Given the description of an element on the screen output the (x, y) to click on. 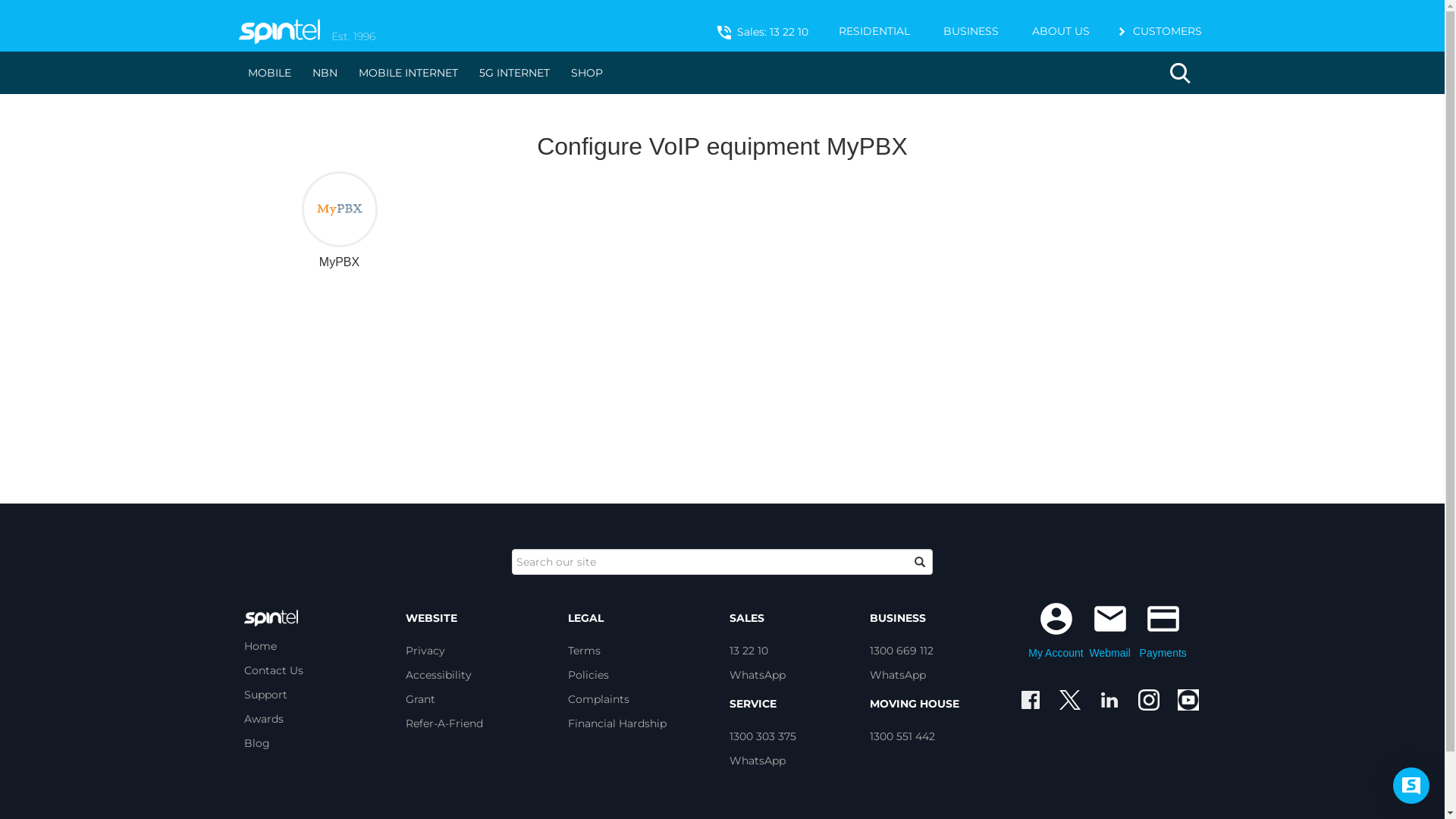
Grant Element type: text (420, 699)
Support Element type: text (265, 694)
WhatsApp Element type: text (757, 674)
BUSINESS Element type: text (970, 30)
WhatsApp Element type: text (757, 760)
SHOP Element type: text (585, 72)
Blog Element type: text (256, 742)
Policies Element type: text (587, 674)
MOBILE INTERNET Element type: text (407, 72)
Contact Us Element type: text (273, 670)
mail
Webmail Element type: text (1109, 630)
Financial Hardship Element type: text (616, 723)
1300 551 442 Element type: text (901, 736)
Awards Element type: text (263, 718)
1300 669 112 Element type: text (900, 650)
13 22 10 Element type: text (748, 650)
ABOUT US Element type: text (1060, 30)
Refer-A-Friend Element type: text (444, 723)
Home Element type: text (260, 645)
Est. 1996 Element type: text (363, 25)
account_circle
My Account Element type: text (1055, 630)
MOBILE Element type: text (268, 72)
chevron_rightCUSTOMERS Element type: text (1157, 32)
MyPBX Element type: text (339, 220)
Terms Element type: text (583, 650)
Complaints Element type: text (597, 699)
credit_card
Payments Element type: text (1162, 630)
Accessibility Element type: text (438, 674)
5G INTERNET Element type: text (514, 72)
RESIDENTIAL Element type: text (874, 30)
phone_in_talkSales: 13 22 10 Element type: text (761, 34)
Privacy Element type: text (425, 650)
NBN Element type: text (324, 72)
1300 303 375 Element type: text (762, 736)
WhatsApp Element type: text (897, 674)
